Given the description of an element on the screen output the (x, y) to click on. 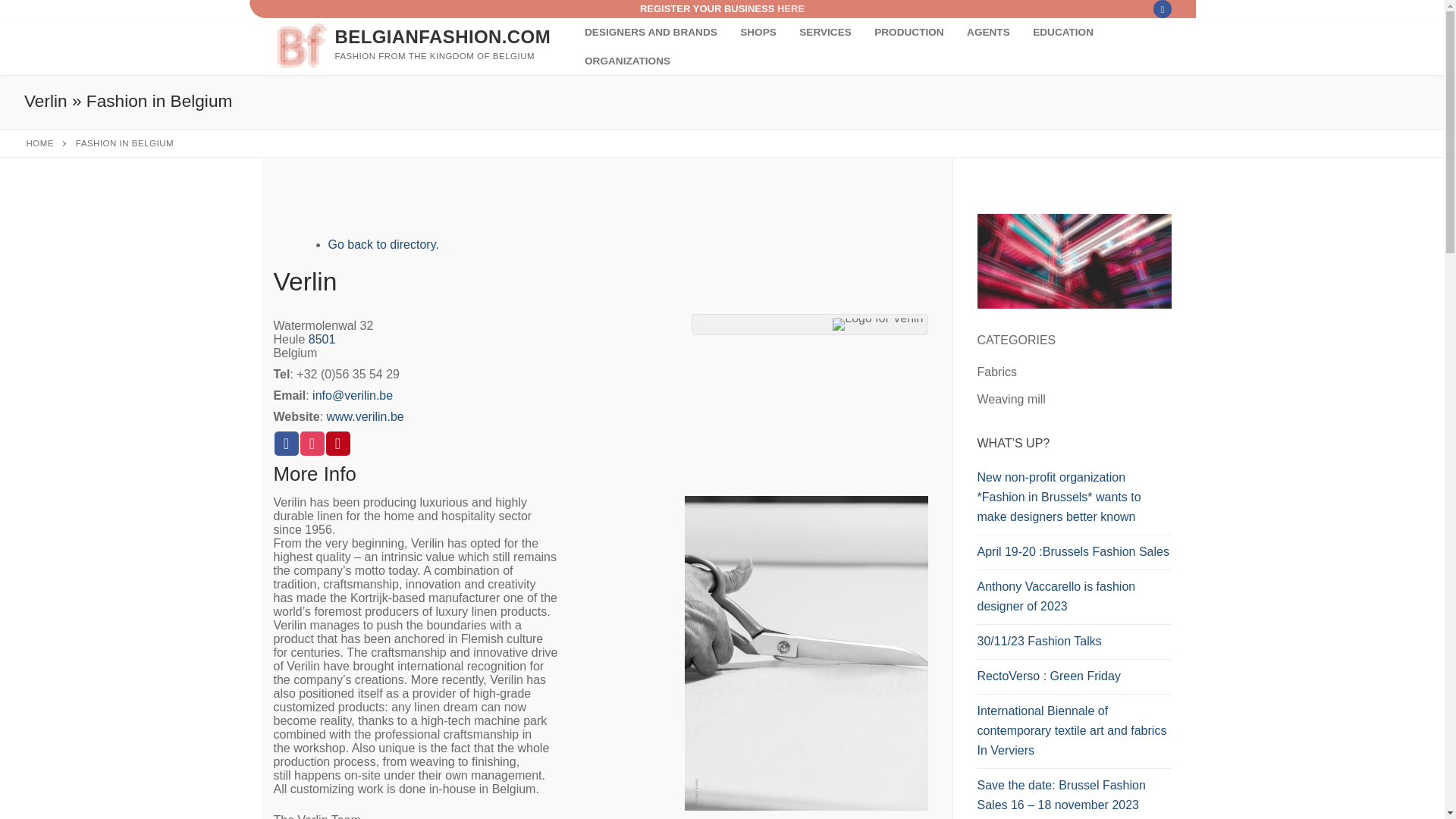
Logo for Verlin (877, 324)
DESIGNERS AND BRANDS (650, 32)
8501 (322, 338)
ORGANIZATIONS (627, 61)
April 19-20 :Brussels Fashion Sales (1073, 555)
Facebook (1162, 9)
RectoVerso : Green Friday (1073, 679)
HOME (40, 143)
EDUCATION (1063, 32)
Go back to directory. (382, 244)
Anthony Vaccarello is fashion designer of 2023 (1073, 600)
HERE (791, 8)
www.verilin.be (364, 416)
SERVICES (825, 32)
